Given the description of an element on the screen output the (x, y) to click on. 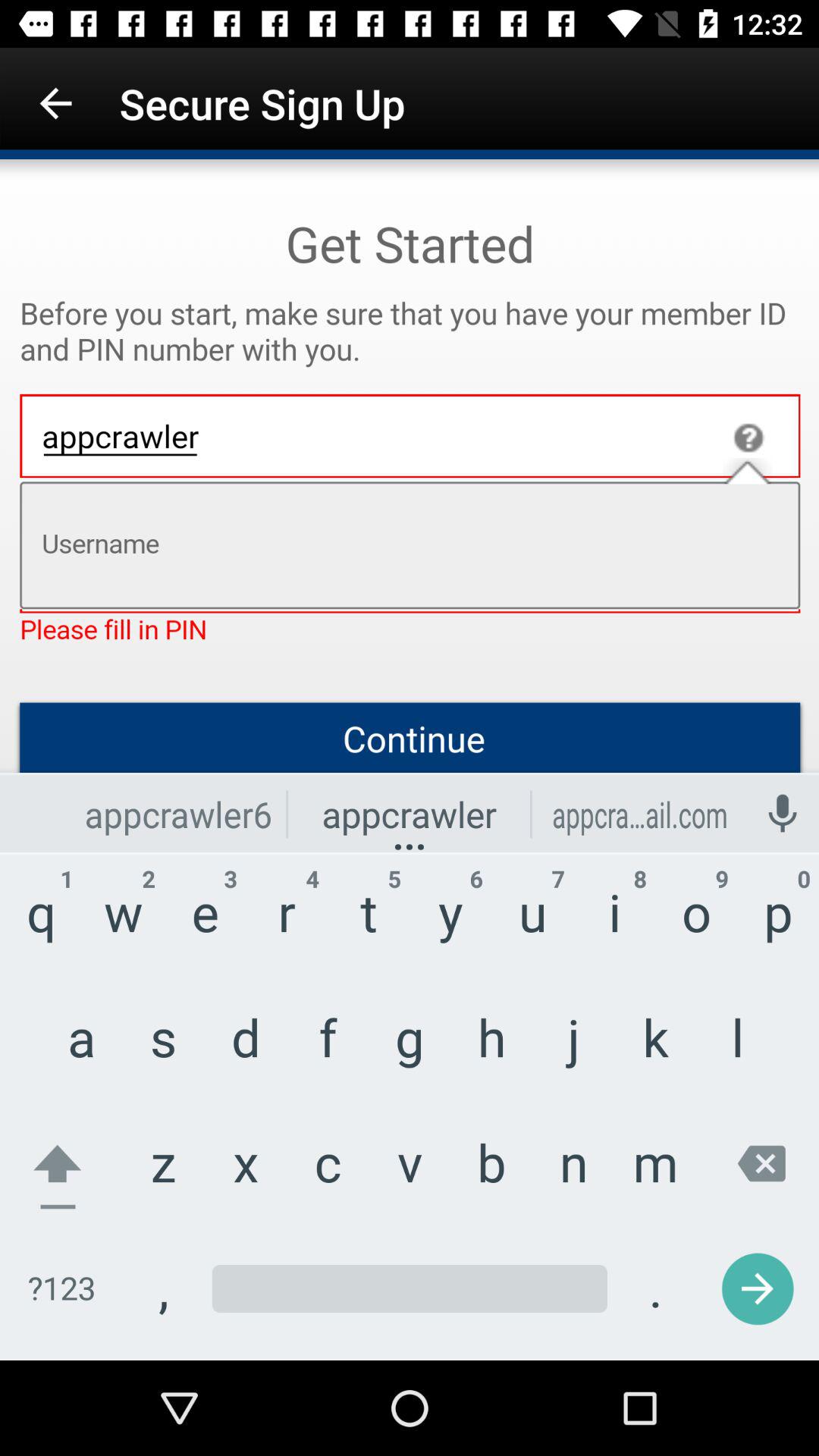
advertisement (409, 759)
